Given the description of an element on the screen output the (x, y) to click on. 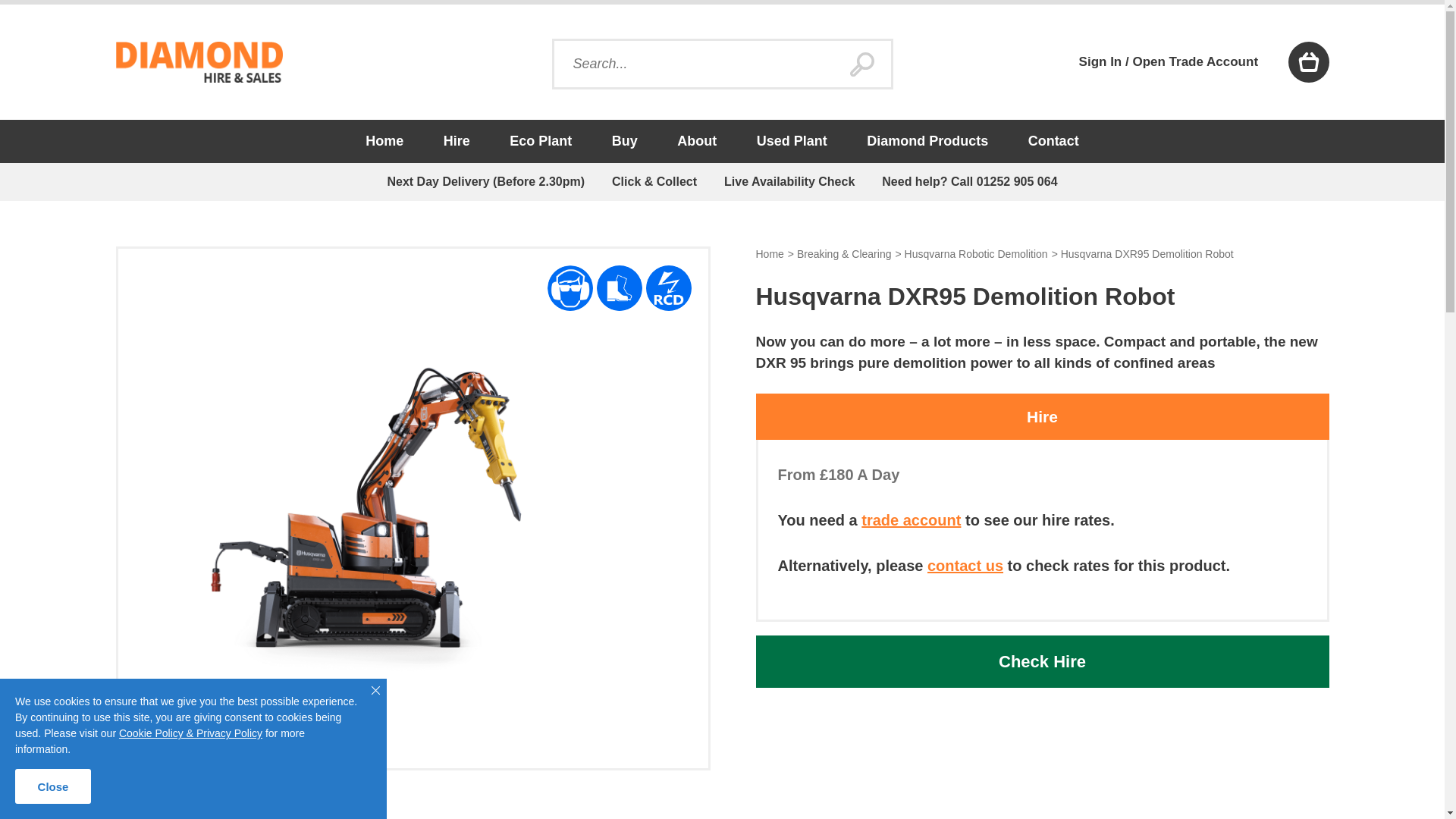
Home (384, 140)
Ear protection MUST be worn (569, 288)
Hire (456, 140)
Safety footwear MUST be worn (618, 288)
